Given the description of an element on the screen output the (x, y) to click on. 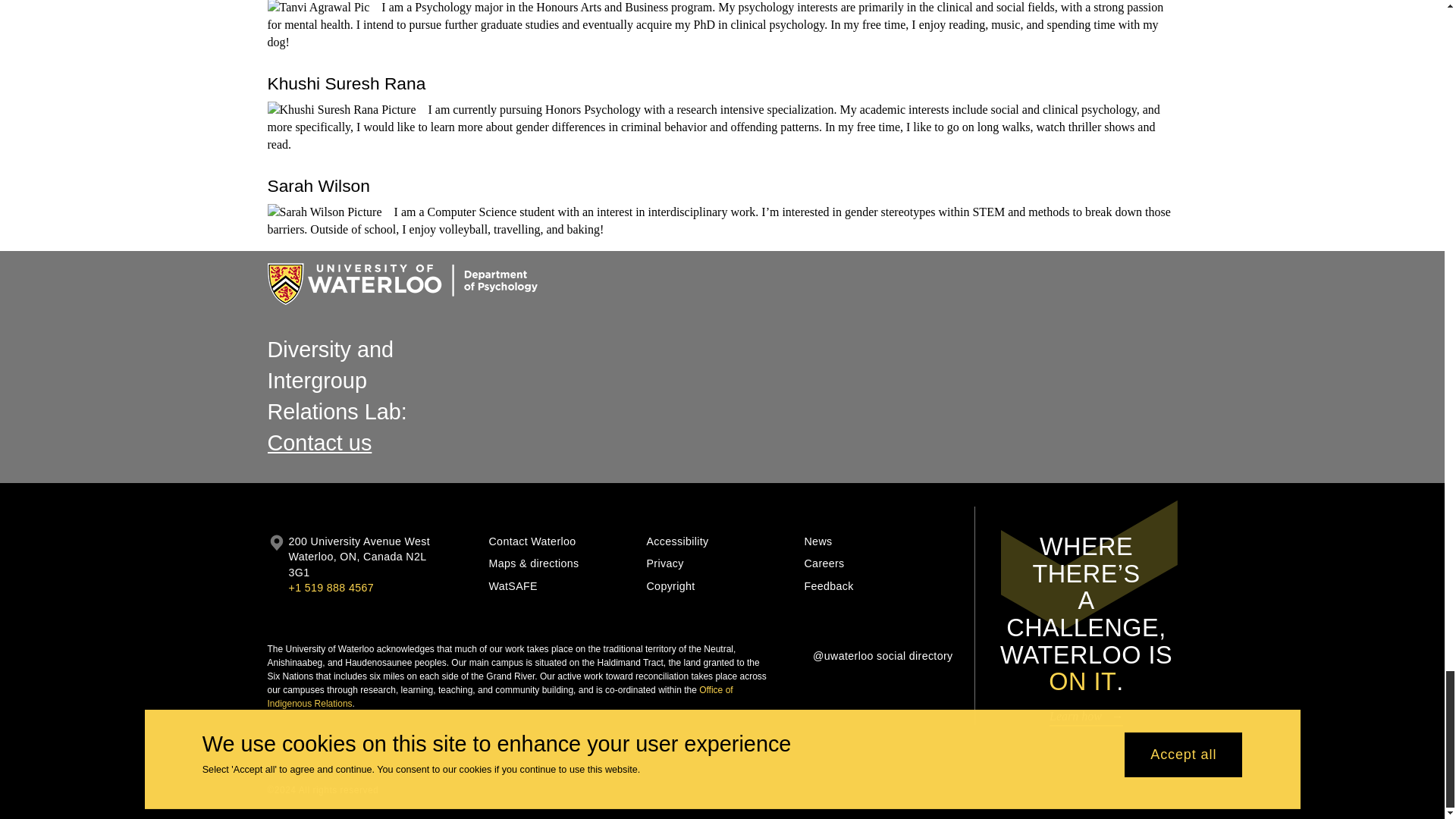
Contact Waterloo (560, 541)
Campus map (275, 564)
News (876, 541)
Accessibility (719, 541)
Contact us (318, 442)
